Given the description of an element on the screen output the (x, y) to click on. 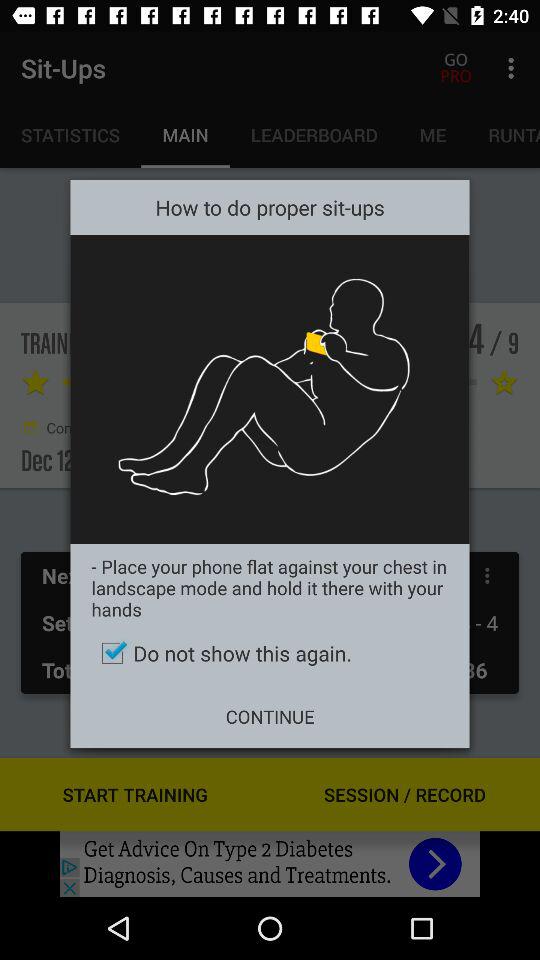
swipe until do not show item (269, 653)
